Given the description of an element on the screen output the (x, y) to click on. 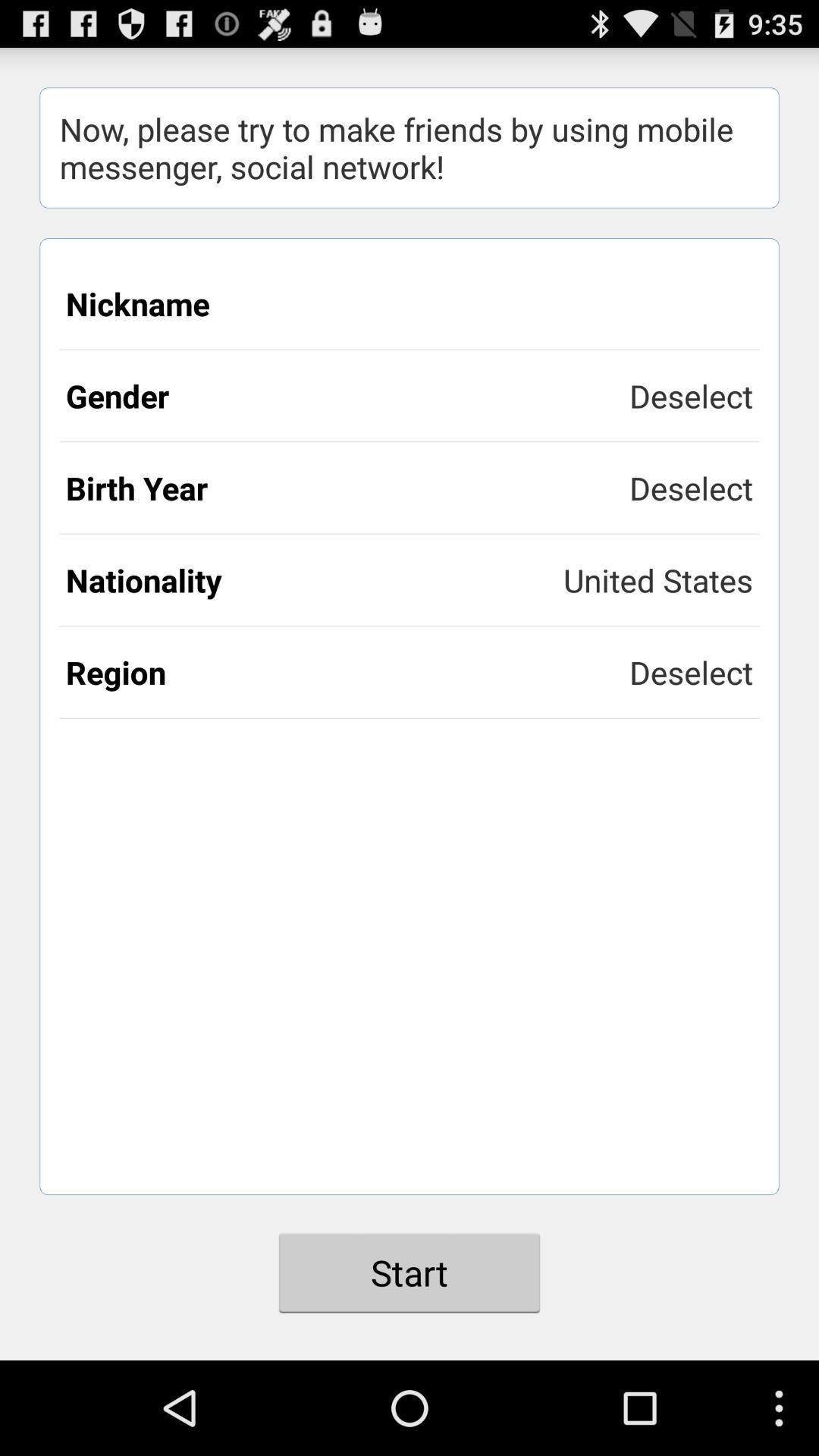
open the item below the now please try icon (409, 303)
